Given the description of an element on the screen output the (x, y) to click on. 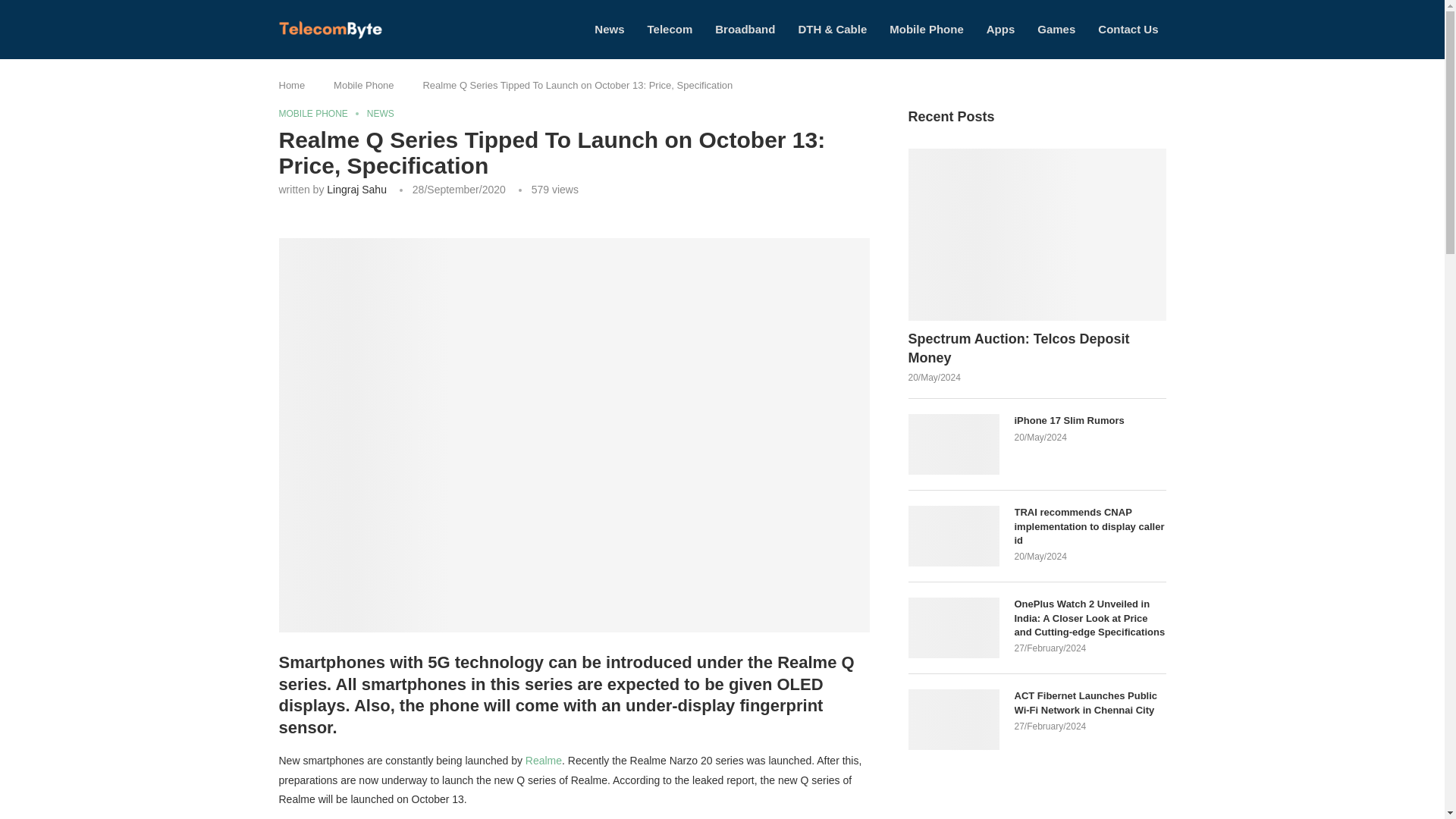
Home (292, 84)
Telecom (670, 29)
Spectrum Auction: Telcos Deposit Money (1037, 348)
Contact Us (1127, 29)
Mobile Phone (926, 29)
iPhone 17 Slim Rumors (953, 444)
Mobile Phone (363, 84)
Broadband (744, 29)
MOBILE PHONE (317, 113)
Spectrum Auction: Telcos Deposit Money (1037, 234)
